Given the description of an element on the screen output the (x, y) to click on. 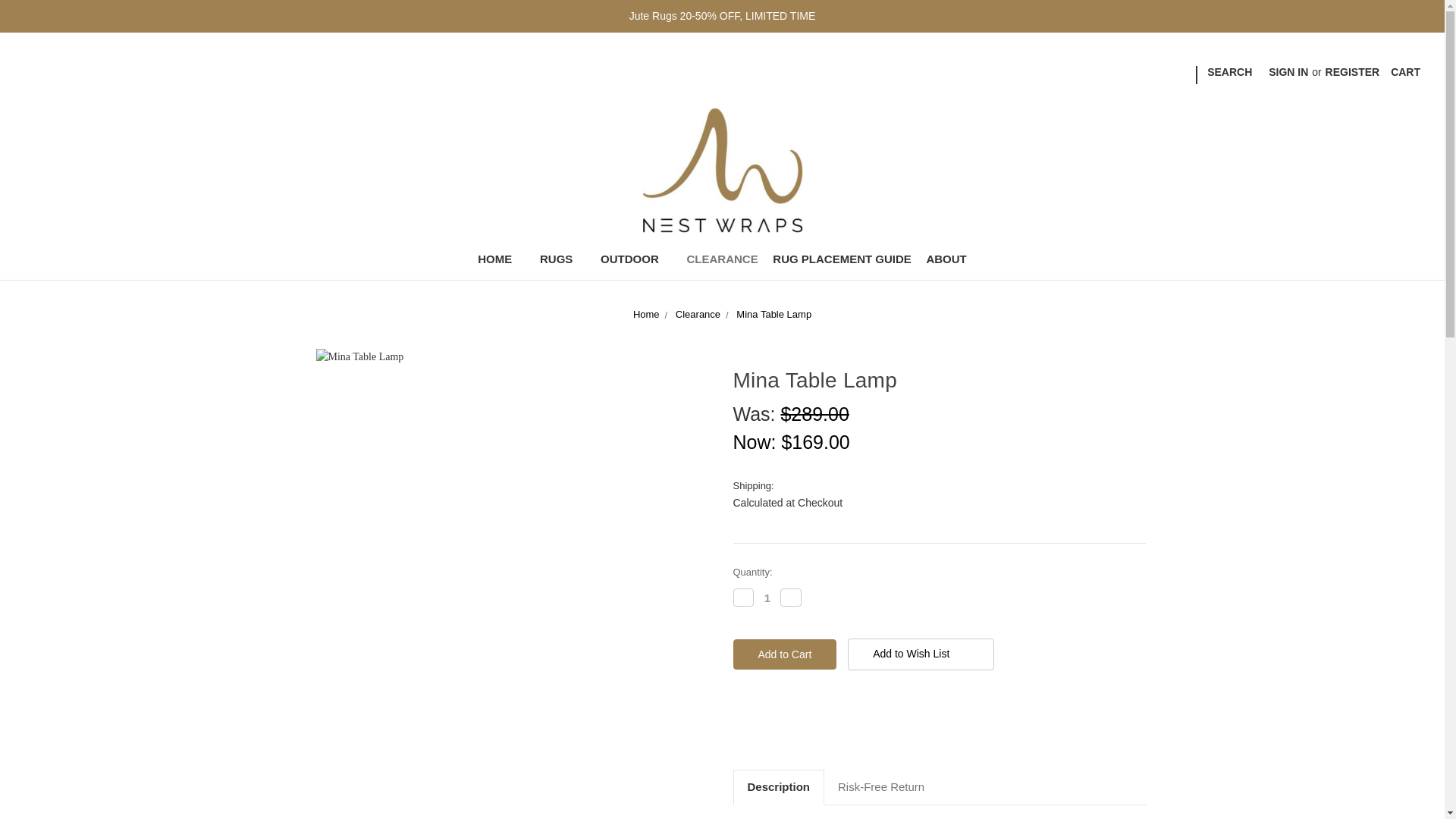
1 (767, 597)
SEARCH (1229, 72)
CART (1404, 72)
SIGN IN (1288, 72)
Nest Wraps (722, 167)
RUGS (562, 261)
REGISTER (1353, 72)
Add to Cart (783, 654)
HOME (501, 261)
